Given the description of an element on the screen output the (x, y) to click on. 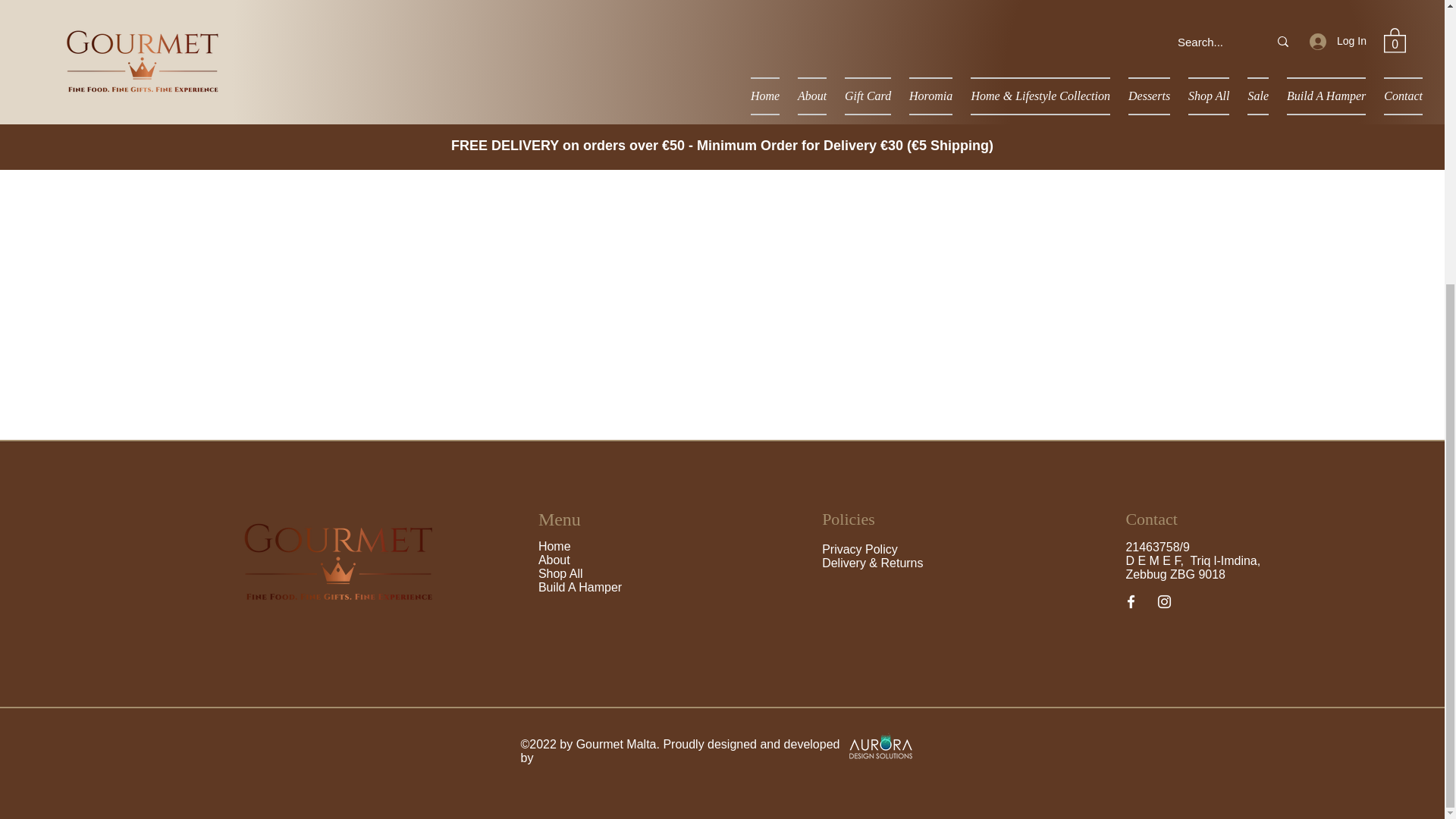
Privacy Policy (860, 549)
Add to Cart (956, 147)
Home (554, 545)
Aurora Design Solutions (880, 745)
Shop All (560, 573)
Build A Hamper (579, 586)
About  (555, 559)
Read more (956, 23)
1 (887, 92)
